Given the description of an element on the screen output the (x, y) to click on. 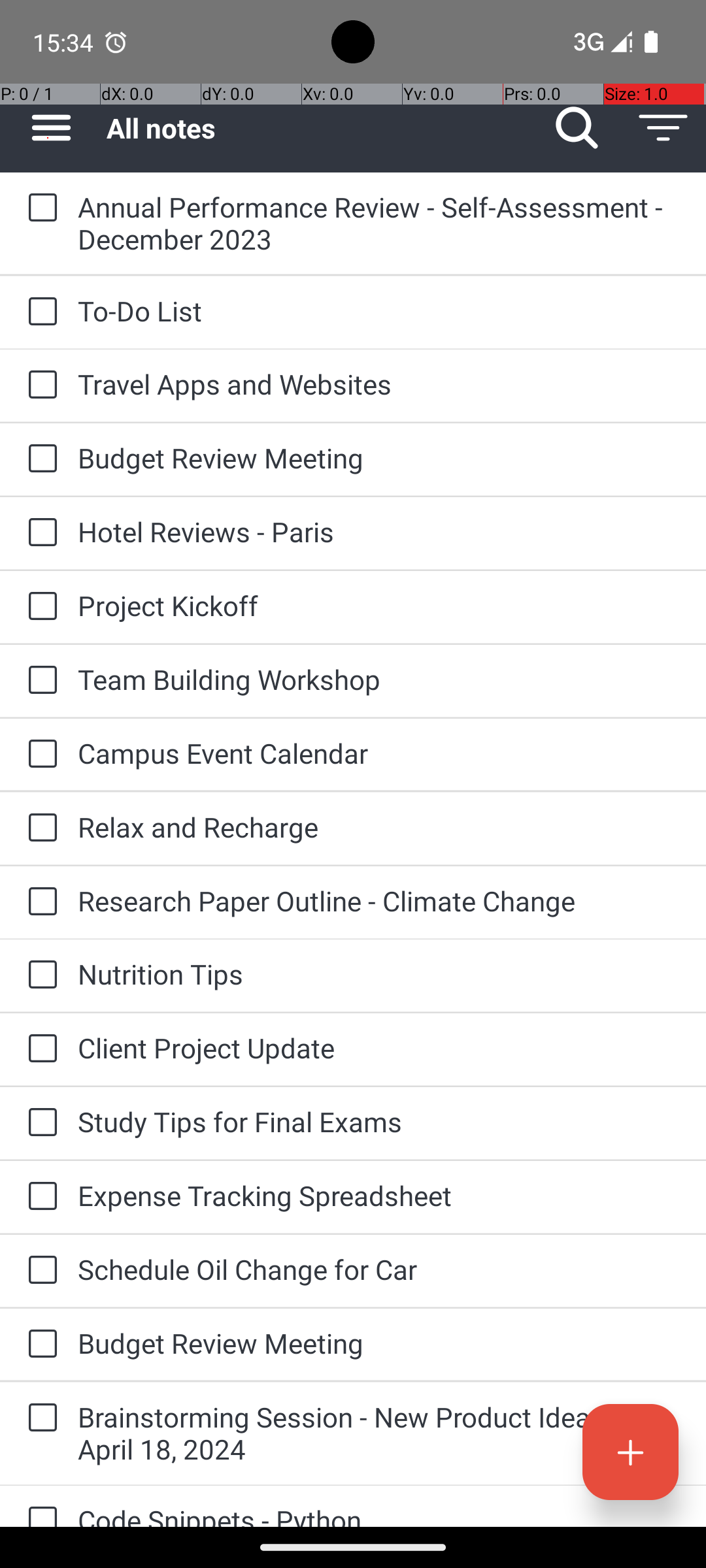
to-do: To-Do List Element type: android.widget.CheckBox (38, 312)
To-Do List Element type: android.widget.TextView (378, 310)
to-do: Travel Apps and Websites Element type: android.widget.CheckBox (38, 385)
Travel Apps and Websites Element type: android.widget.TextView (378, 383)
to-do: Team Building Workshop Element type: android.widget.CheckBox (38, 680)
Team Building Workshop Element type: android.widget.TextView (378, 678)
to-do: Campus Event Calendar Element type: android.widget.CheckBox (38, 754)
Campus Event Calendar Element type: android.widget.TextView (378, 752)
to-do: Relax and Recharge Element type: android.widget.CheckBox (38, 828)
Relax and Recharge Element type: android.widget.TextView (378, 826)
to-do: Research Paper Outline - Climate Change Element type: android.widget.CheckBox (38, 902)
Research Paper Outline - Climate Change Element type: android.widget.TextView (378, 900)
to-do: Client Project Update Element type: android.widget.CheckBox (38, 1049)
Client Project Update Element type: android.widget.TextView (378, 1047)
to-do: Study Tips for Final Exams Element type: android.widget.CheckBox (38, 1123)
Study Tips for Final Exams Element type: android.widget.TextView (378, 1121)
to-do: Expense Tracking Spreadsheet Element type: android.widget.CheckBox (38, 1196)
Expense Tracking Spreadsheet Element type: android.widget.TextView (378, 1194)
to-do: Schedule Oil Change for Car Element type: android.widget.CheckBox (38, 1270)
Schedule Oil Change for Car Element type: android.widget.TextView (378, 1268)
to-do: Brainstorming Session - New Product Ideas - April 18, 2024 Element type: android.widget.CheckBox (38, 1418)
Brainstorming Session - New Product Ideas - April 18, 2024 Element type: android.widget.TextView (378, 1432)
